Given the description of an element on the screen output the (x, y) to click on. 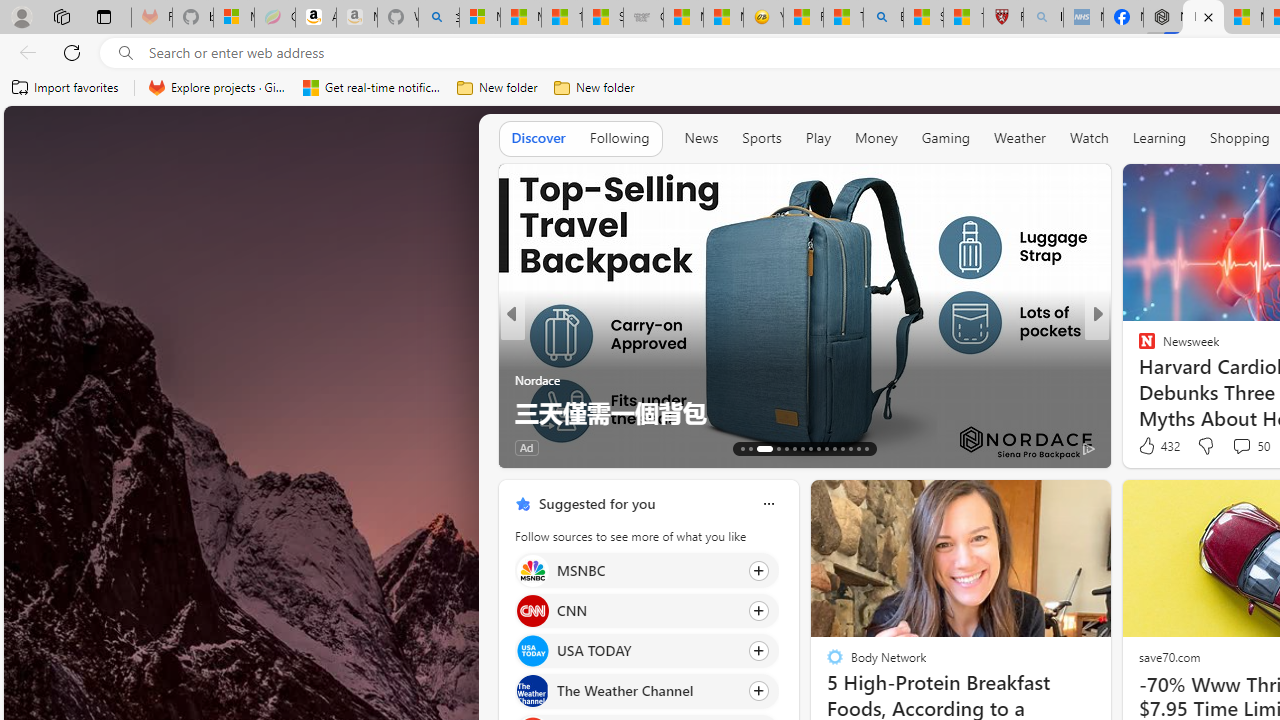
View comments 6 Comment (1241, 447)
Body Network (1138, 380)
Irish Star (1138, 380)
View comments 104 Comment (1247, 447)
View comments 14 Comment (1244, 447)
256 Like (1151, 447)
Shopping (1240, 137)
182 Like (1151, 447)
Million Dollar Sense (1138, 380)
AutomationID: tab-81 (865, 448)
Suggested for you (596, 503)
Gaming (945, 138)
